Given the description of an element on the screen output the (x, y) to click on. 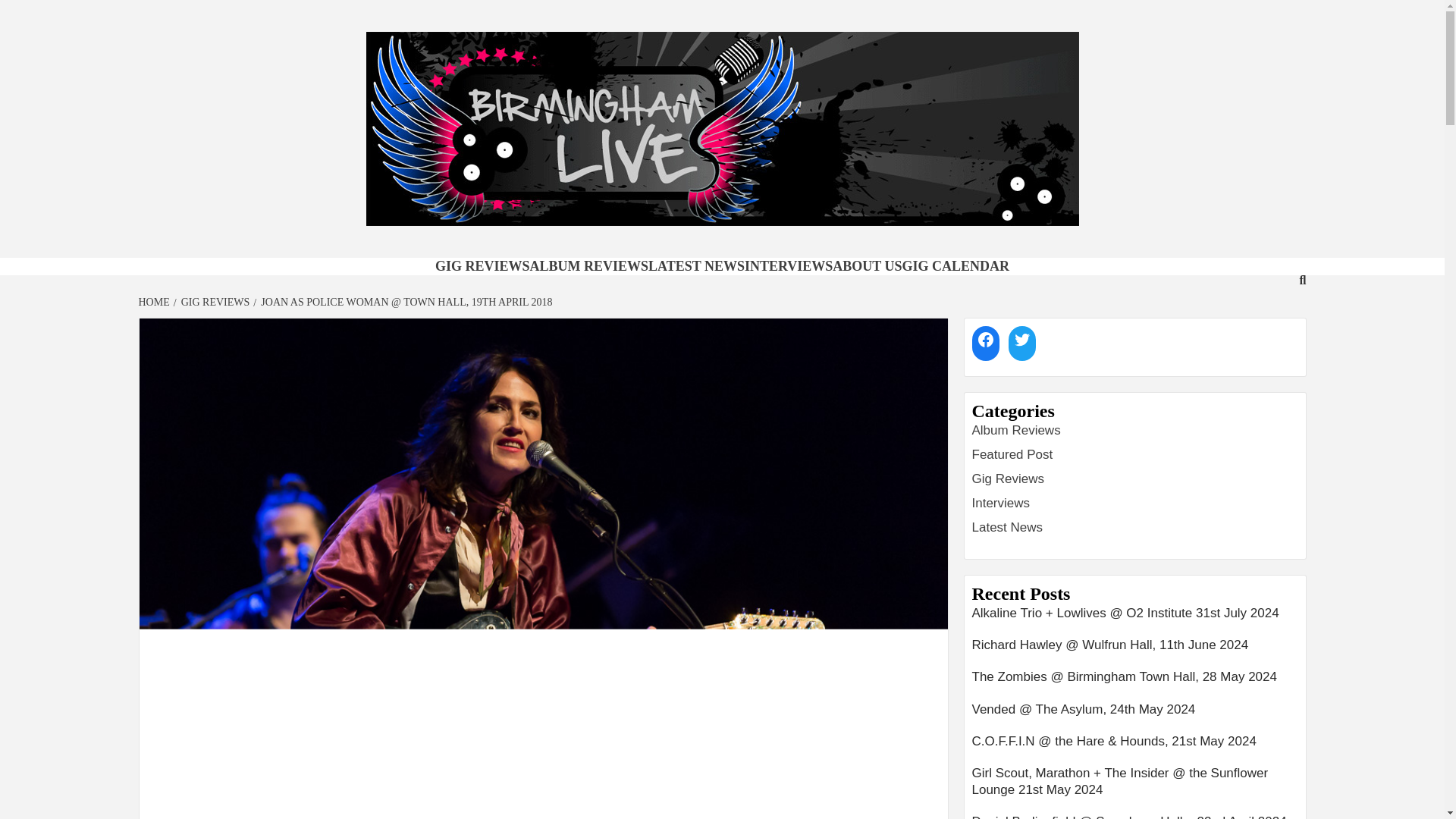
ABOUT US (866, 265)
LATEST NEWS (695, 265)
Twitter (1022, 338)
GIG REVIEWS (482, 265)
INTERVIEWS (788, 265)
ALBUM REVIEWS (588, 265)
HOME (155, 301)
Facebook (985, 338)
GIG REVIEWS (213, 301)
GIG CALENDAR (956, 265)
